Given the description of an element on the screen output the (x, y) to click on. 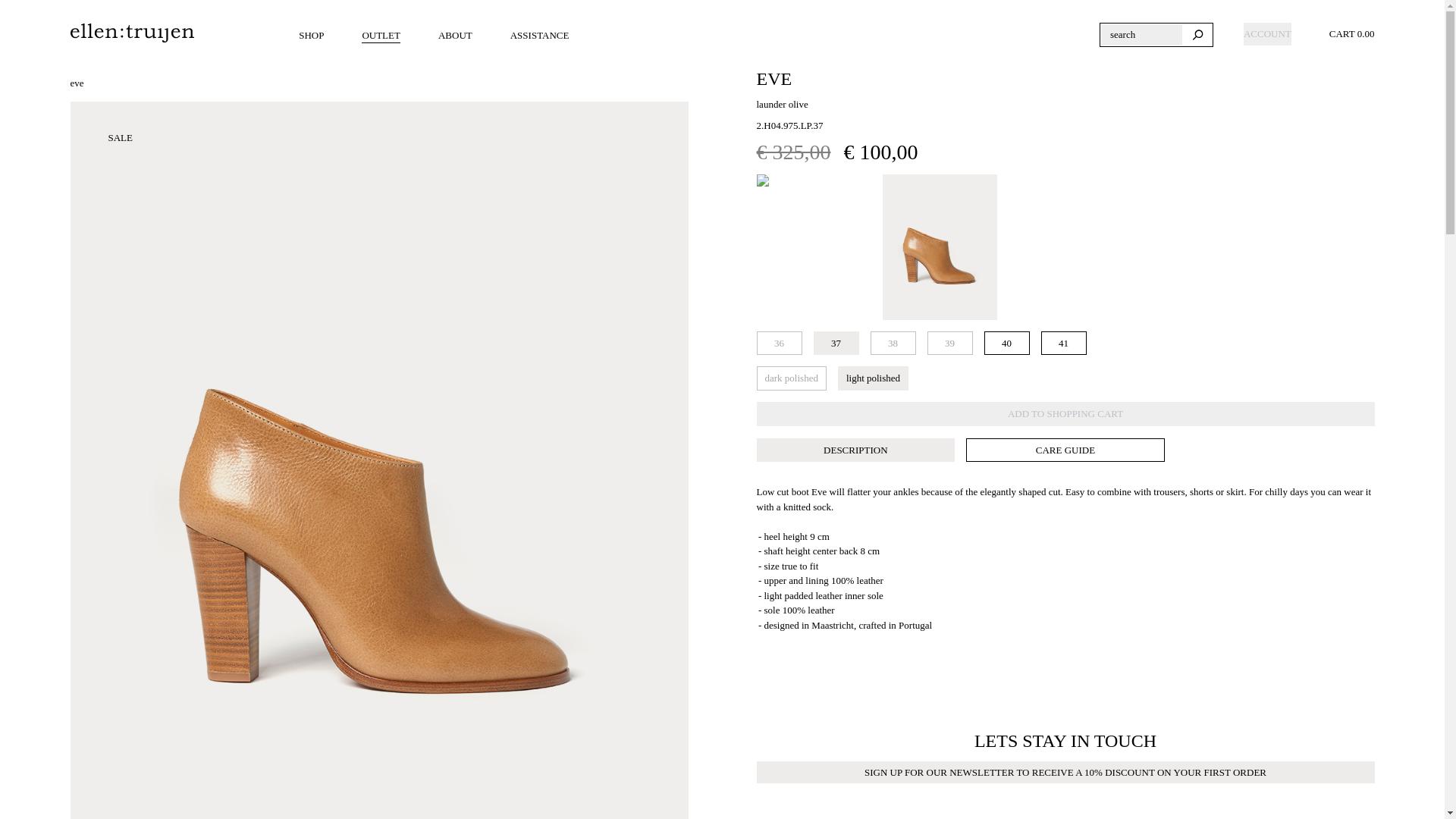
outlet (380, 34)
Shop (310, 34)
CART 0.00 (1355, 33)
ABOUT (454, 34)
ASSISTANCE (540, 34)
Assistance (540, 34)
OUTLET (380, 34)
ACCOUNT (1267, 33)
About (454, 34)
